Given the description of an element on the screen output the (x, y) to click on. 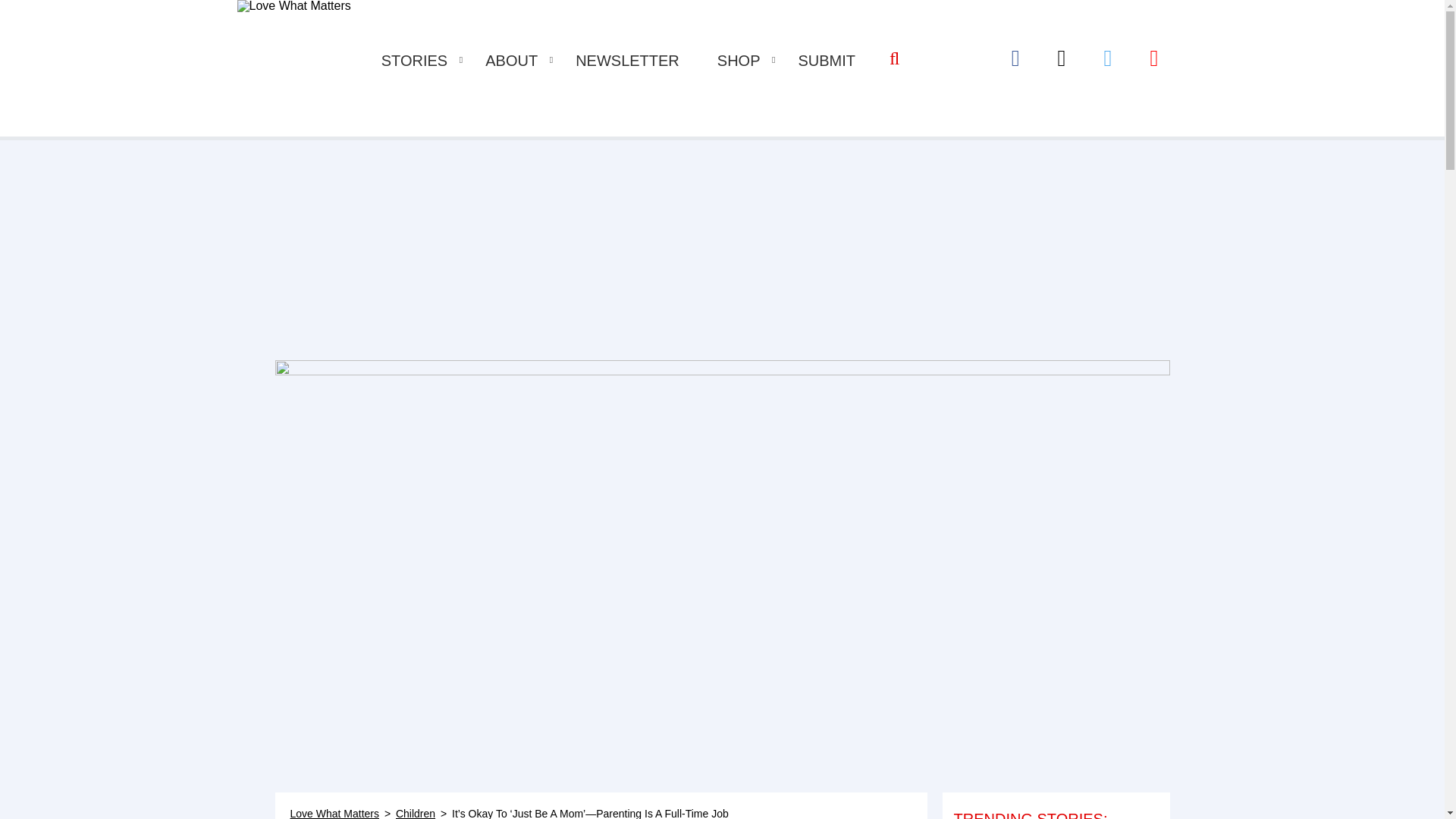
ABOUT (511, 60)
SUBMIT (826, 60)
STORIES (414, 60)
NEWSLETTER (627, 60)
SHOP (738, 60)
